Given the description of an element on the screen output the (x, y) to click on. 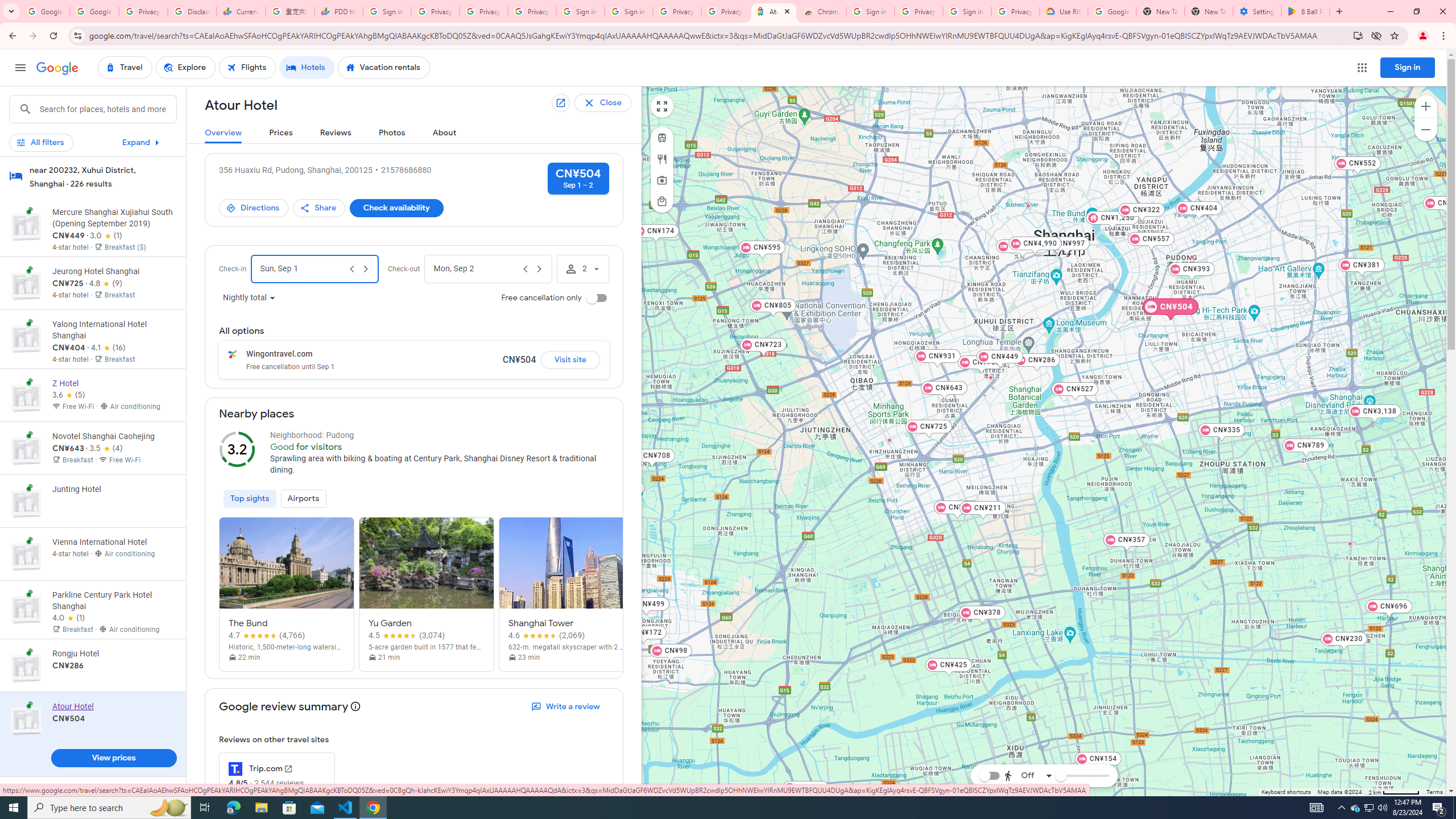
Explore (185, 67)
View prices for Jeurong Hotel Shanghai (113, 322)
View prices for Novotel Shanghai Caohejing (113, 488)
4.5 out of 5 stars from 3,074 reviews (406, 635)
Junting Hotel (990, 377)
3.5 out of 5 stars from 4 reviews (105, 448)
View prices for Parkline Century Park Hotel Shanghai (113, 651)
4.1 out of 5 stars from 16 reviews (107, 347)
Drive (1025, 743)
